Given the description of an element on the screen output the (x, y) to click on. 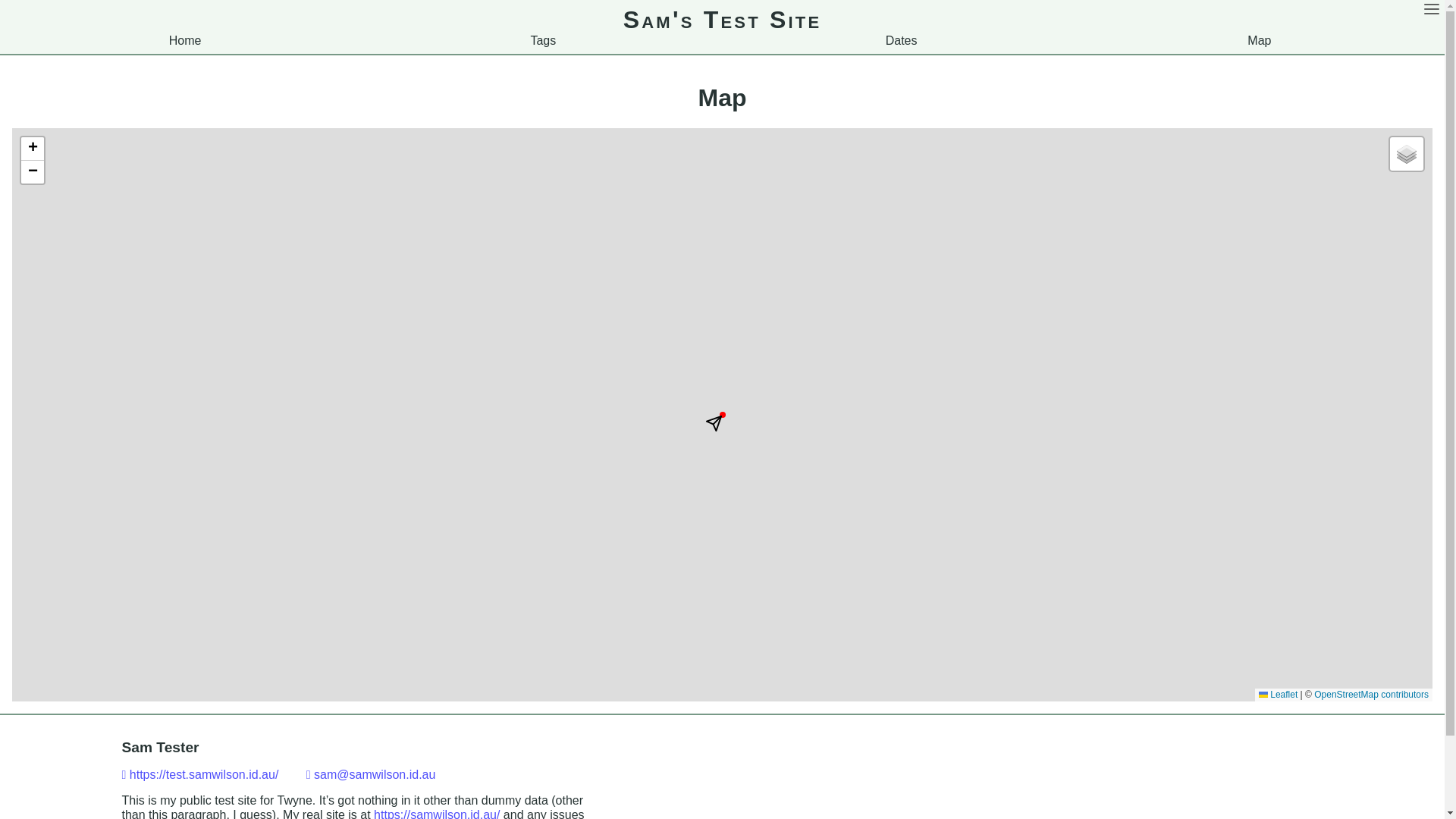
Layers Element type: hover (1406, 153)
Sam's Test Site Element type: text (722, 19)
Home Element type: text (185, 40)
Tags Element type: text (542, 40)
OpenStreetMap contributors Element type: text (1371, 694)
Map Element type: text (1258, 40)
Dates Element type: text (901, 40)
+ Element type: text (32, 148)
Leaflet Element type: text (1277, 694)
